Given the description of an element on the screen output the (x, y) to click on. 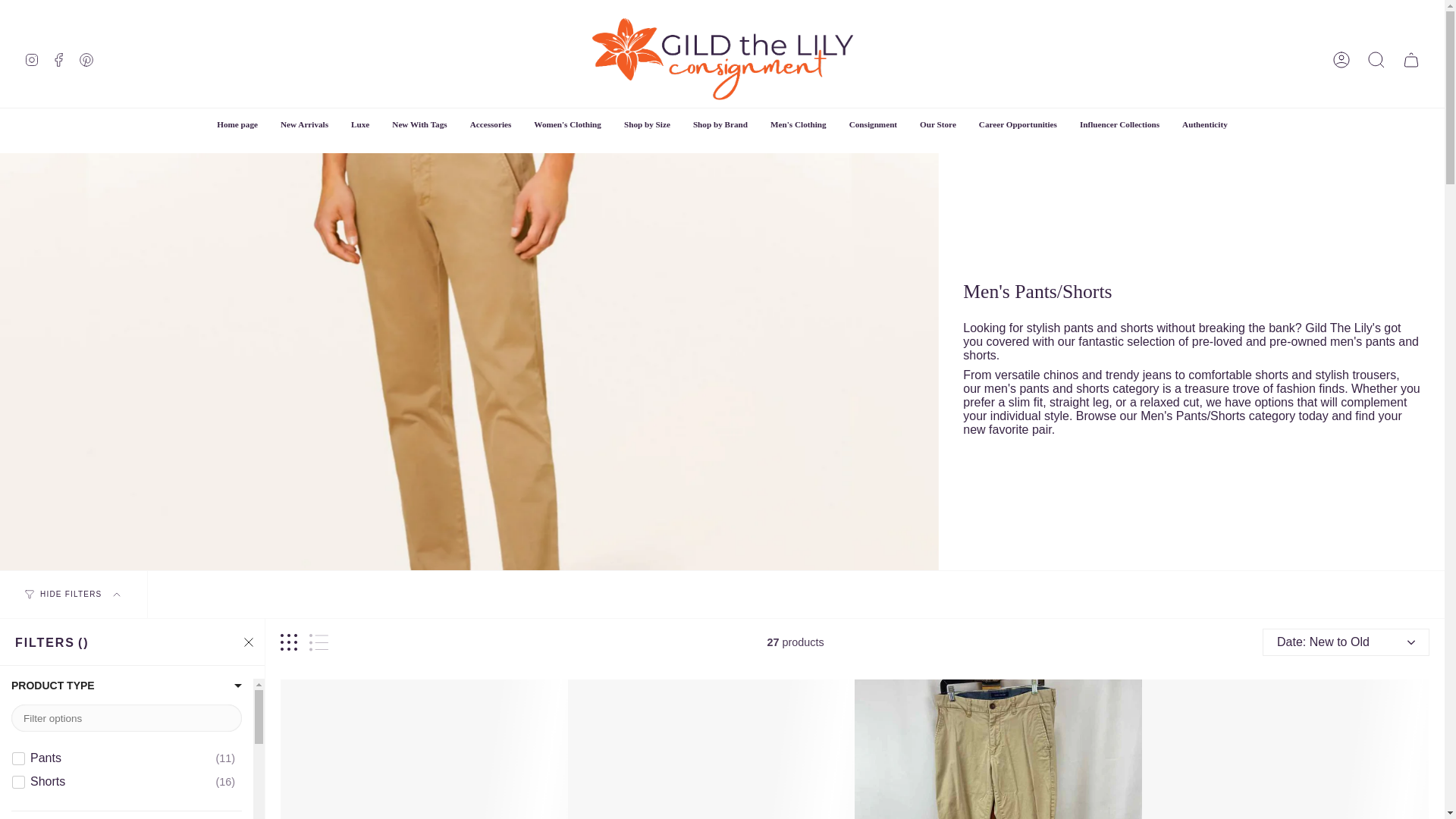
Gild the Lily on Instagram (31, 58)
Facebook (58, 58)
New Arrivals (304, 124)
Search (1375, 59)
Cart (1410, 59)
New With Tags (419, 124)
Gild the Lily on Facebook (58, 58)
My Account (1340, 59)
Account (1340, 59)
Shop by Size (646, 124)
